Given the description of an element on the screen output the (x, y) to click on. 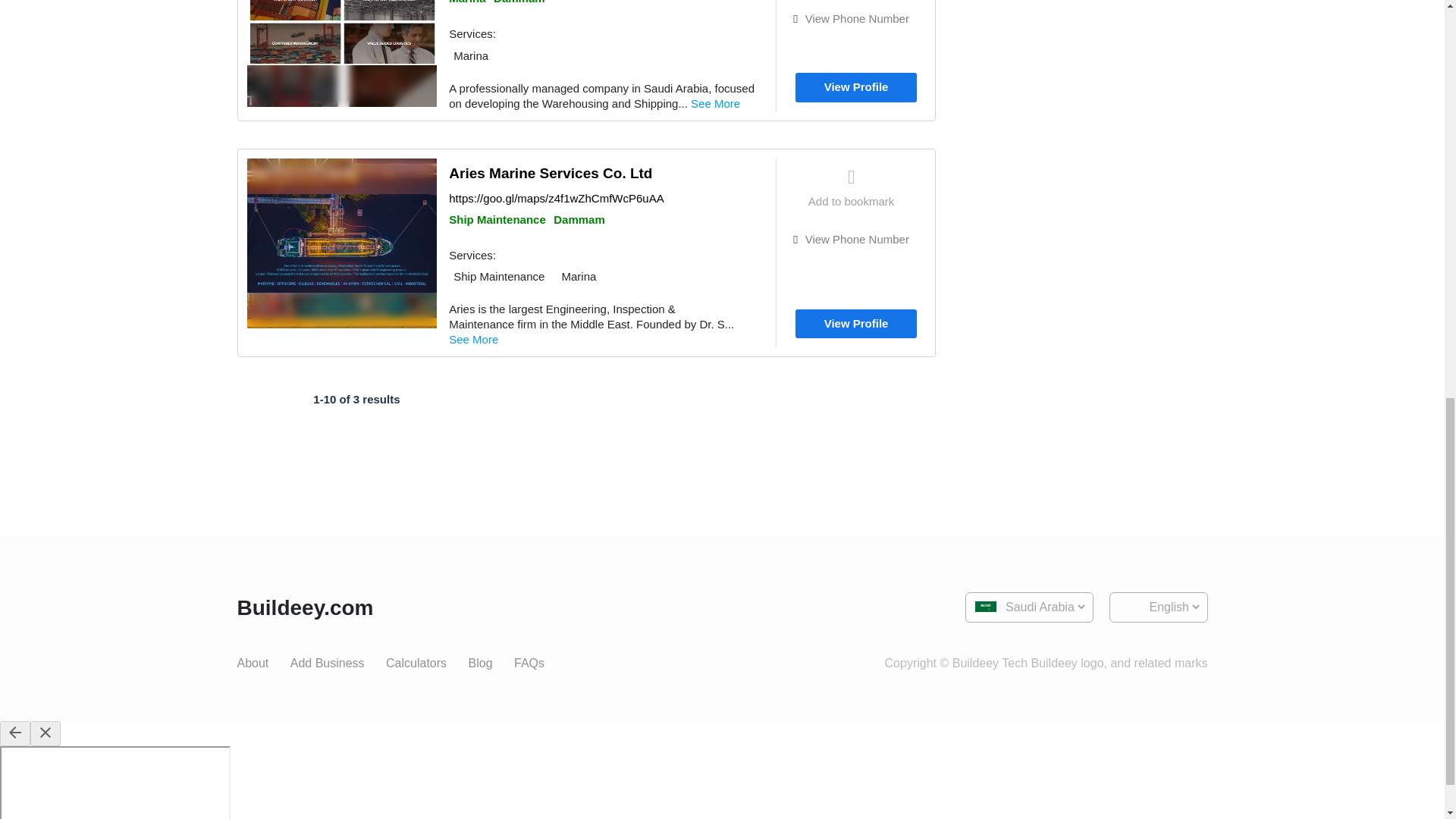
Marina (466, 2)
See More (719, 103)
Dammam (518, 2)
View Profile (855, 87)
